Given the description of an element on the screen output the (x, y) to click on. 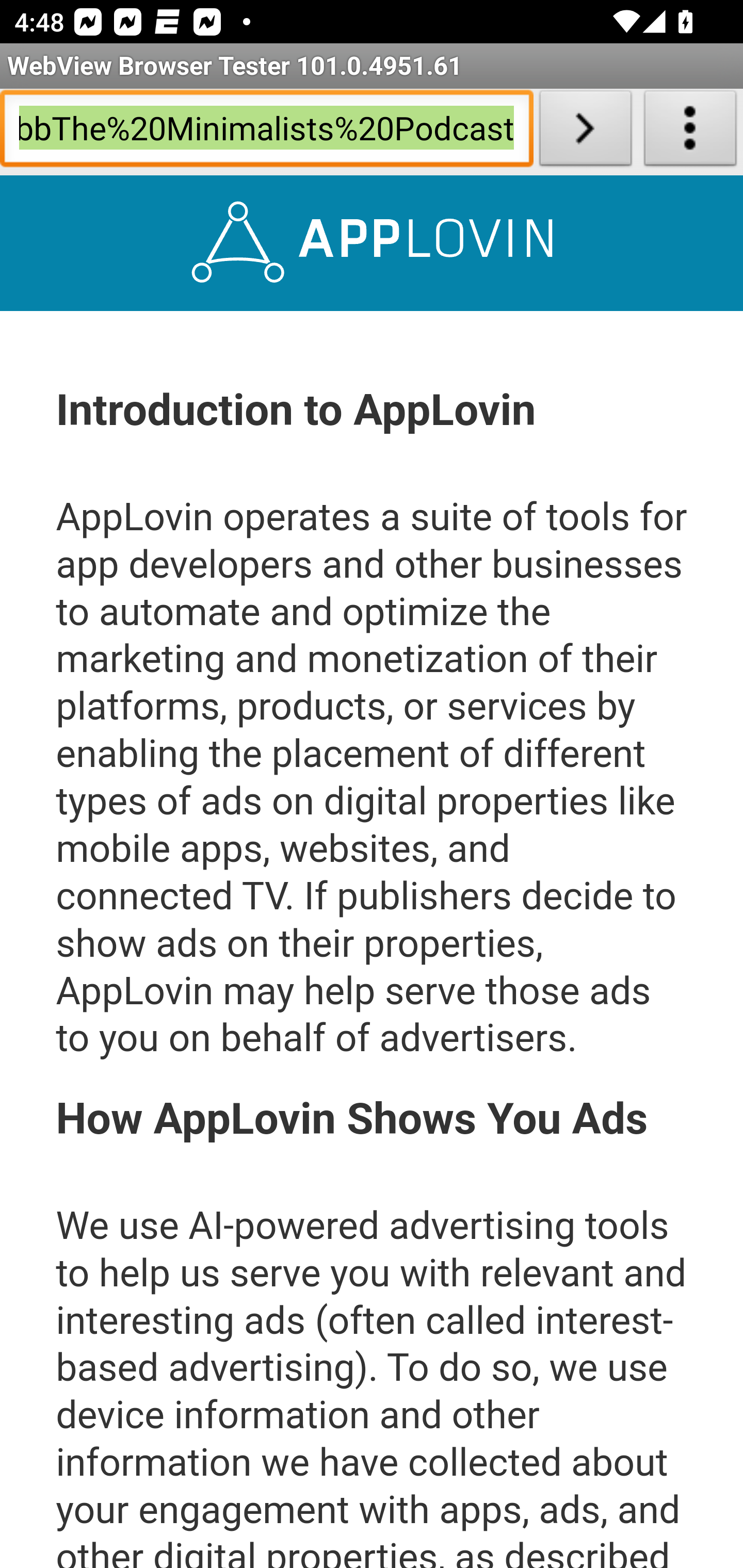
Load URL (585, 132)
About WebView (690, 132)
